Given the description of an element on the screen output the (x, y) to click on. 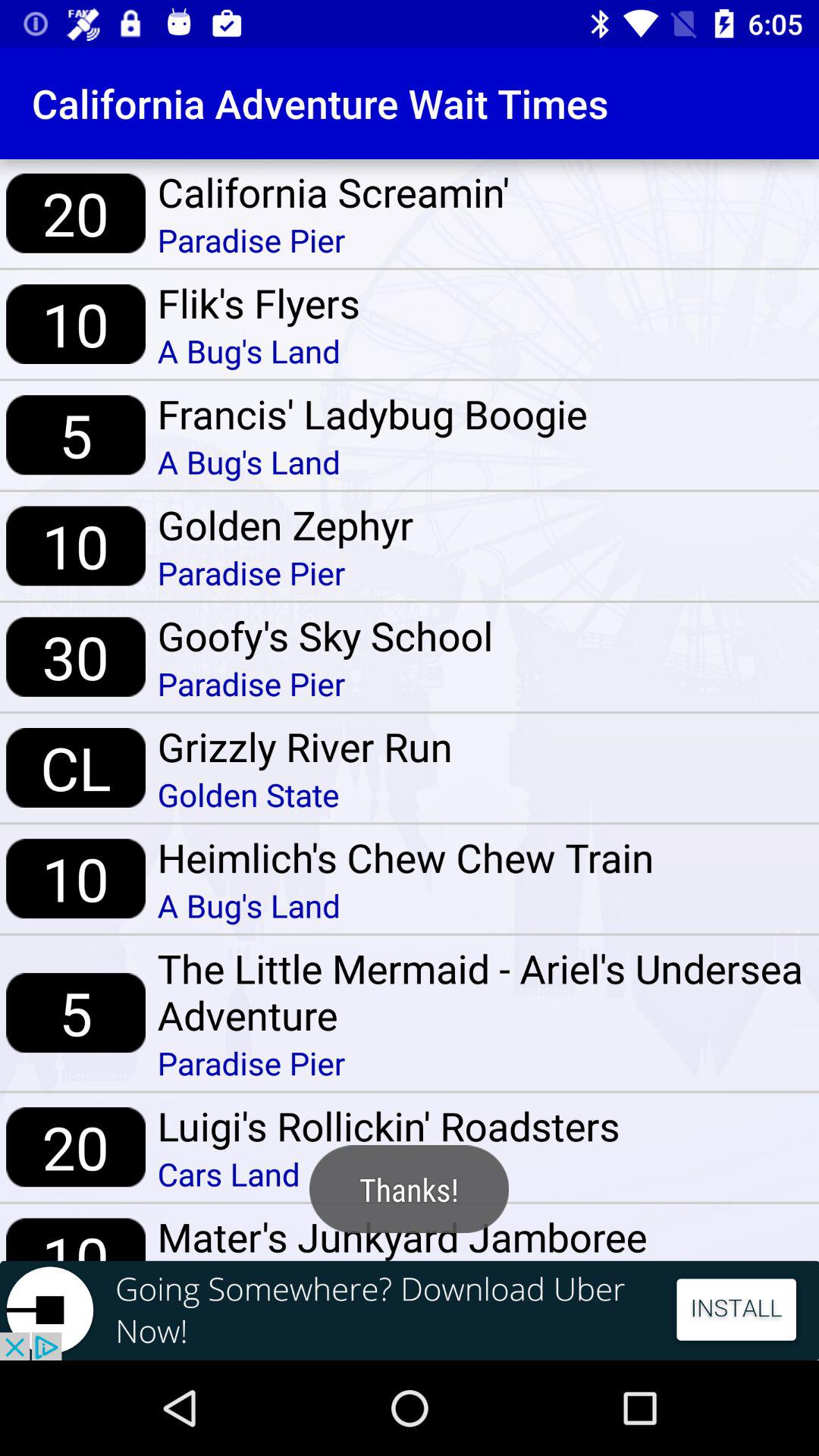
jump to heimlich s chew item (405, 856)
